Given the description of an element on the screen output the (x, y) to click on. 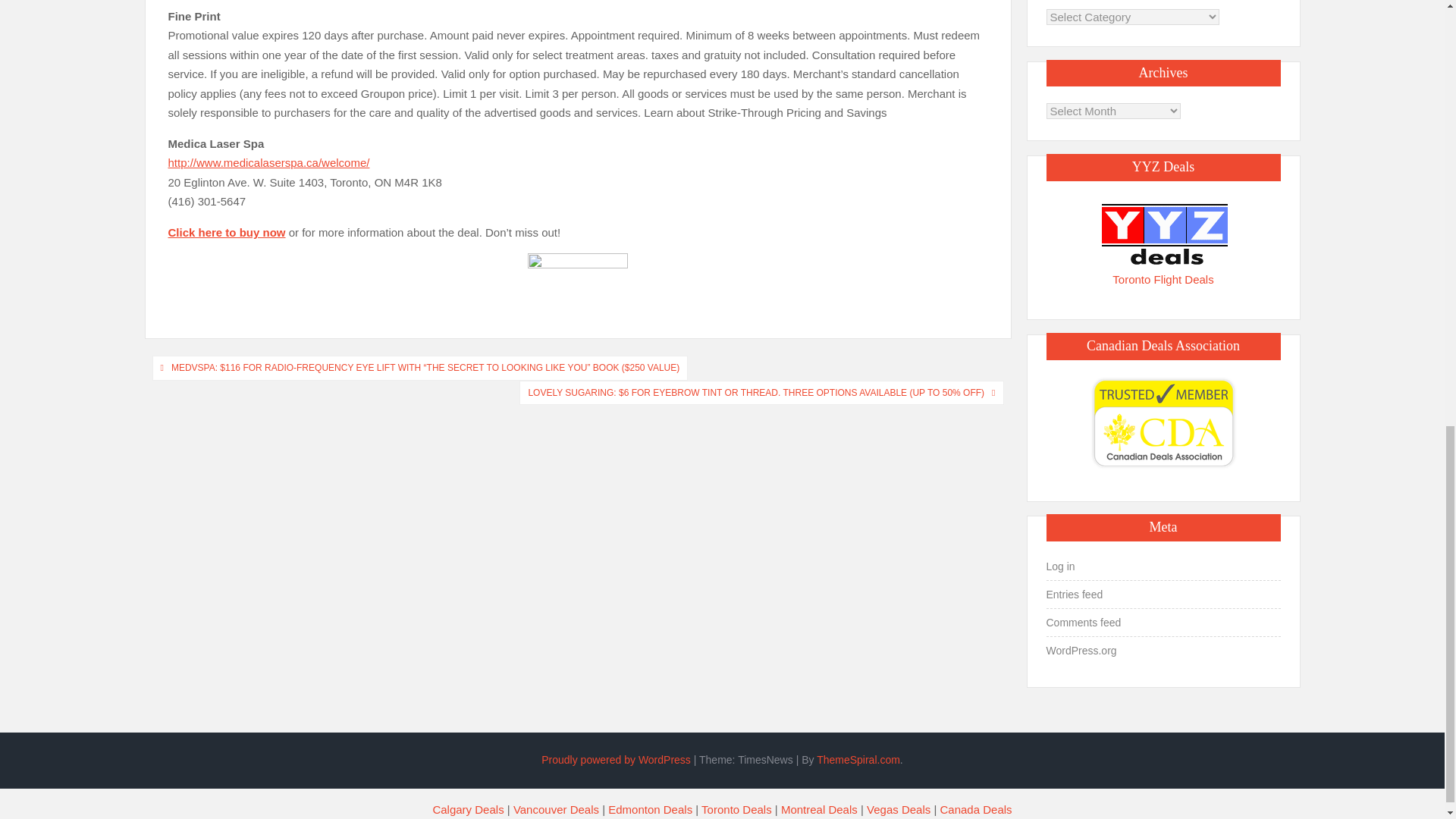
Edmonton Deals Blog (650, 809)
Montreal Deals Blog (818, 809)
Toronto Deals Blog (736, 809)
Calgary Deals Blog (467, 809)
YYZ Deals (1164, 233)
Just Vegas Deals (898, 809)
Member of Canadian Deals Association (1164, 422)
Vancouver Deals Blog (555, 809)
